Given the description of an element on the screen output the (x, y) to click on. 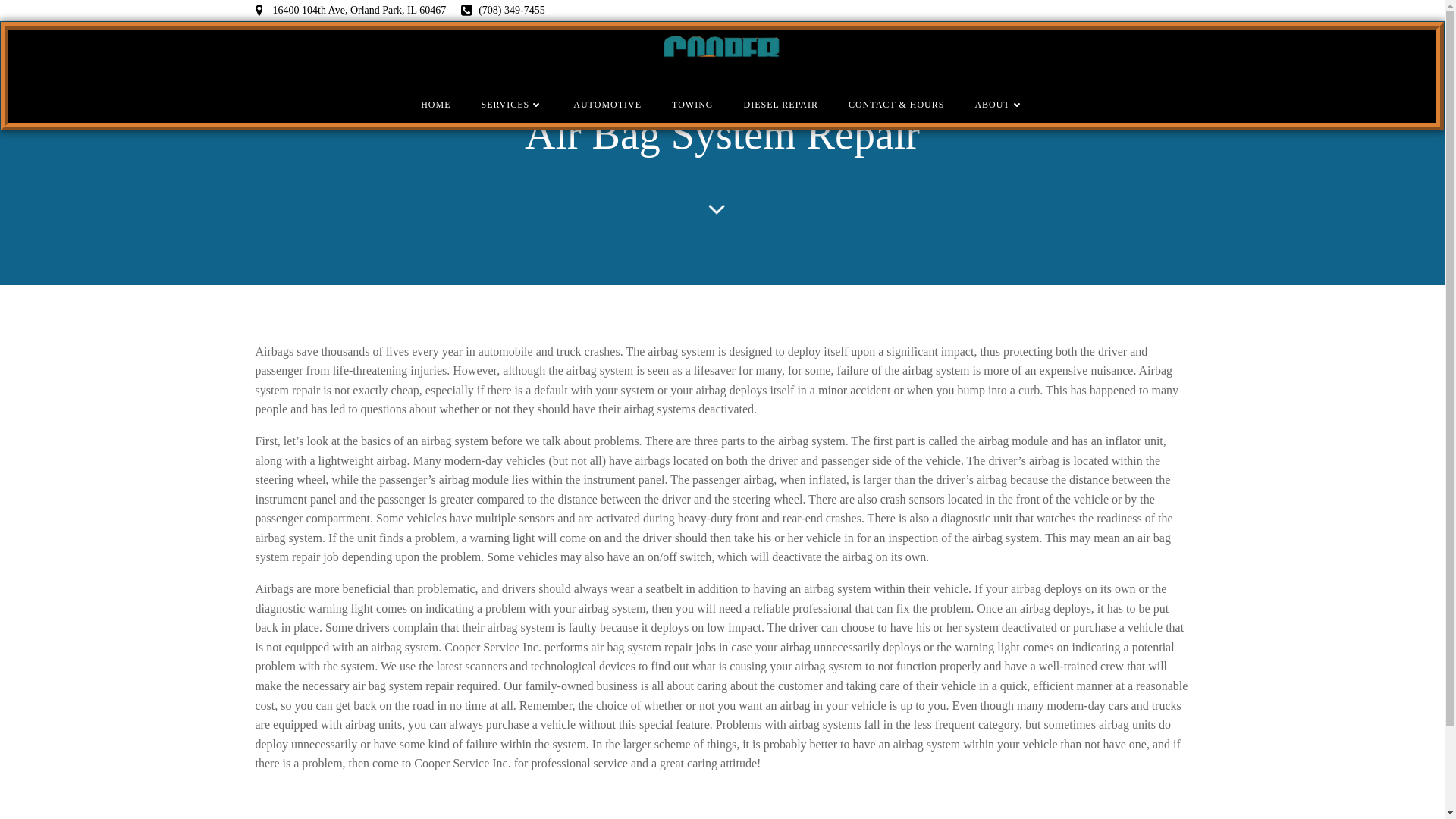
TOWING (692, 104)
AUTOMOTIVE (607, 104)
SERVICES (512, 104)
DIESEL REPAIR (779, 104)
HOME (434, 104)
ABOUT (998, 104)
16400 104th Ave, Orland Park, IL 60467 (349, 10)
